Given the description of an element on the screen output the (x, y) to click on. 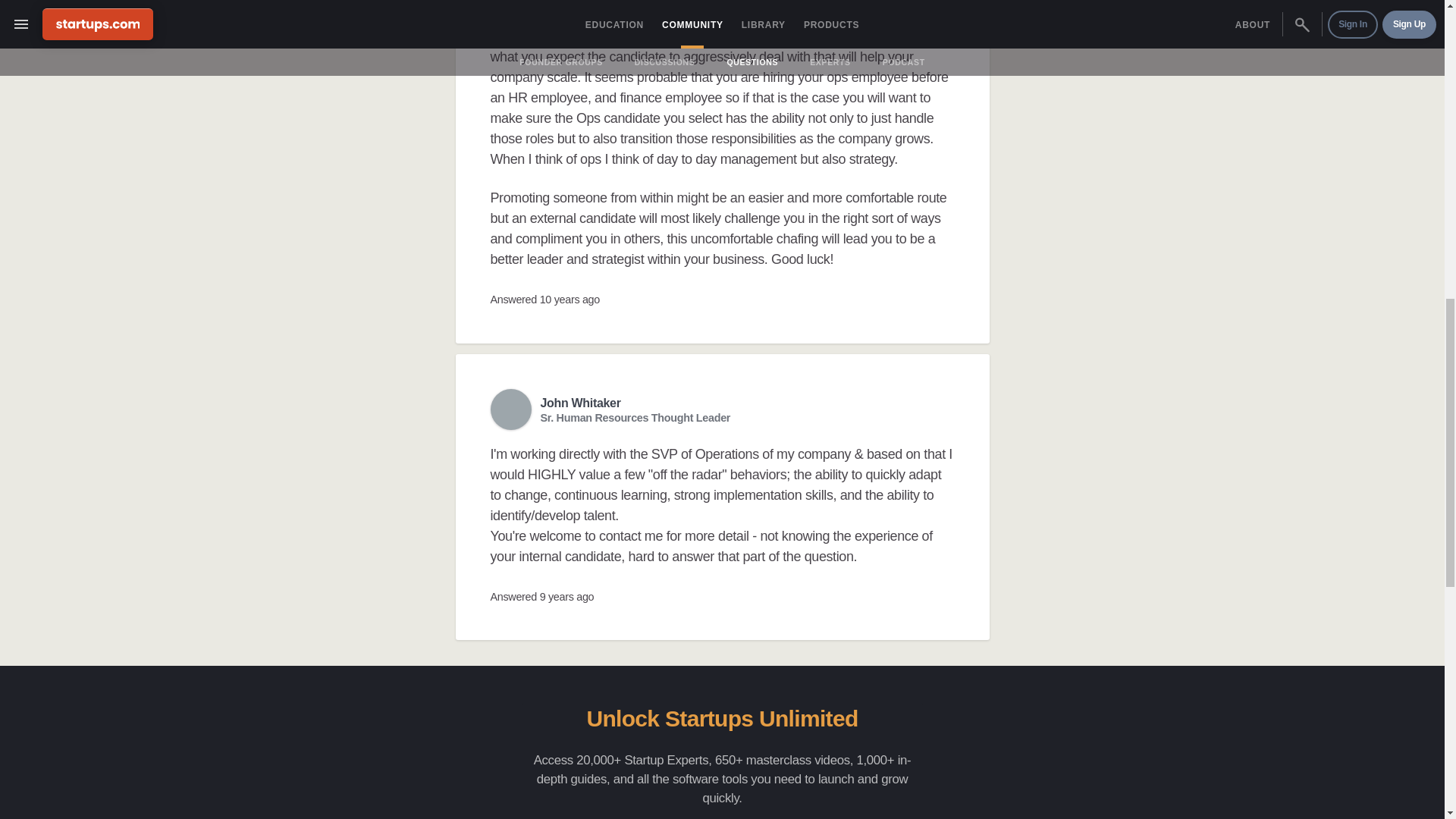
Photo of Chris Larmore (510, 6)
Photo of John Whitaker (510, 409)
